Given the description of an element on the screen output the (x, y) to click on. 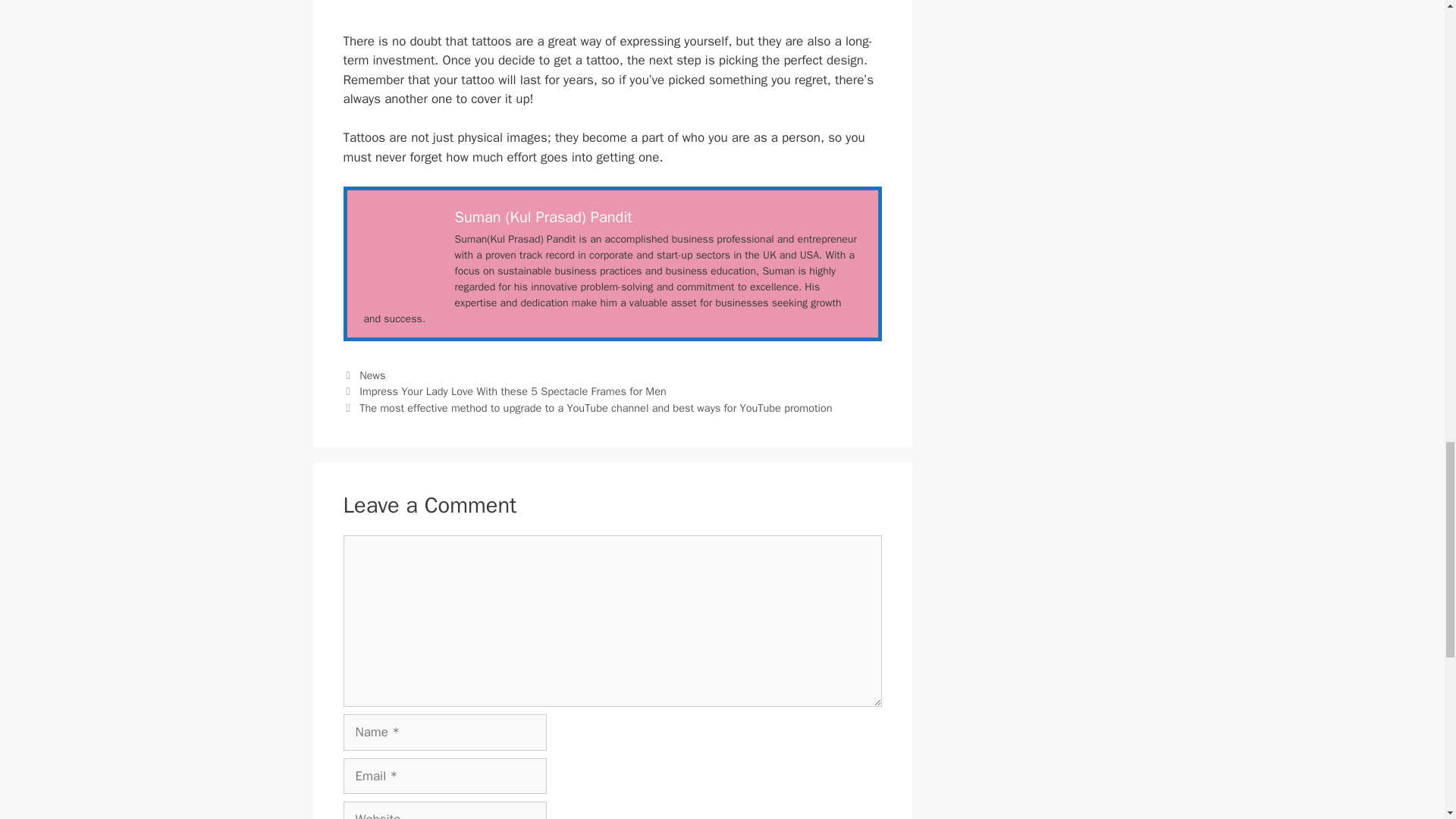
News (372, 375)
Things to Consider Before You Get An Arm Tattoo (401, 244)
Impress Your Lady Love With these 5 Spectacle Frames for Men (512, 391)
